Given the description of an element on the screen output the (x, y) to click on. 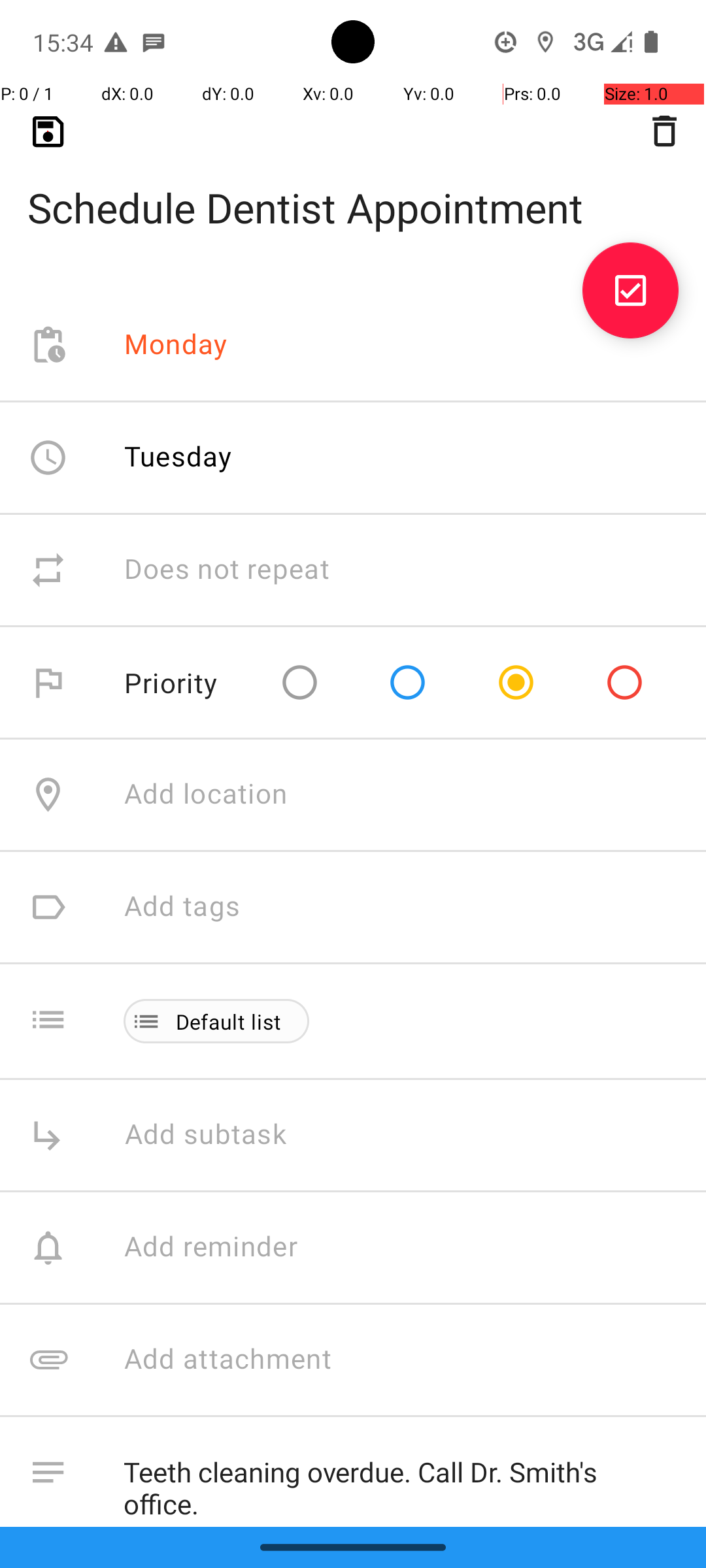
Teeth cleaning overdue. Call Dr. Smith's office. Element type: android.widget.EditText (400, 1481)
